Given the description of an element on the screen output the (x, y) to click on. 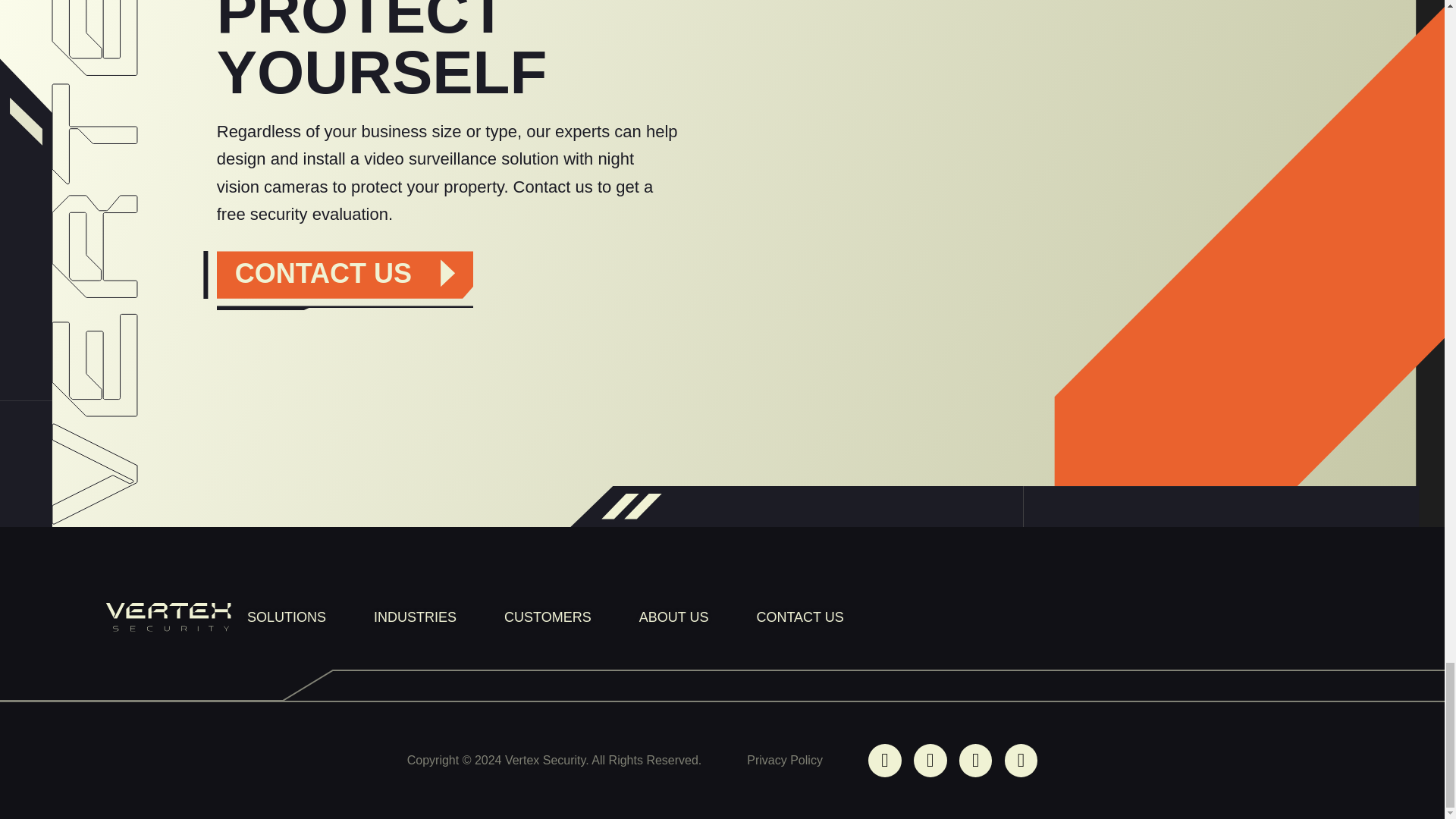
Privacy Policy (784, 759)
